Given the description of an element on the screen output the (x, y) to click on. 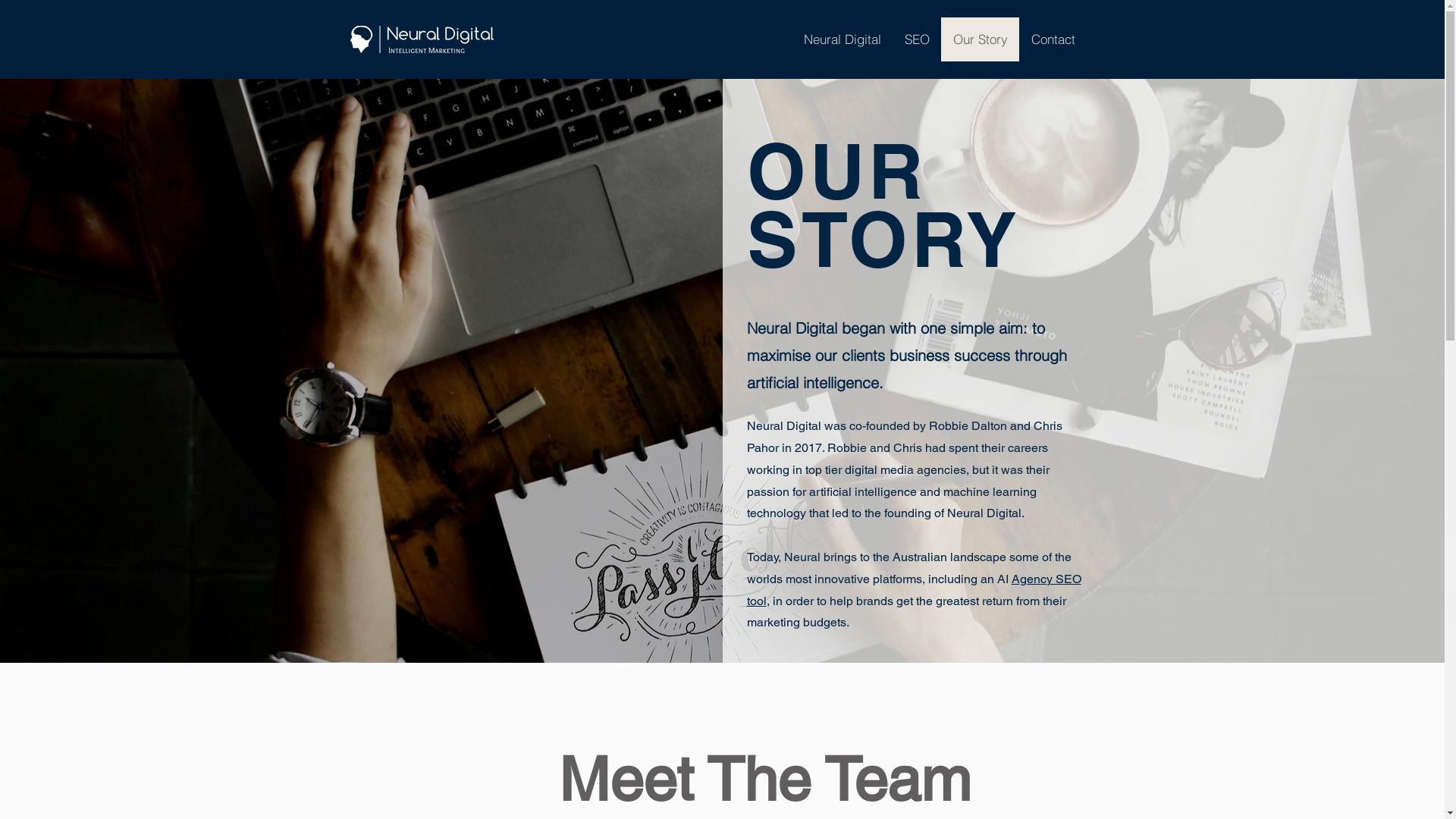
Agency SEO tool Element type: text (913, 589)
SEO Element type: text (916, 39)
Contact Element type: text (1052, 39)
Our Story Element type: text (980, 39)
Neural Digital Element type: text (841, 39)
